Given the description of an element on the screen output the (x, y) to click on. 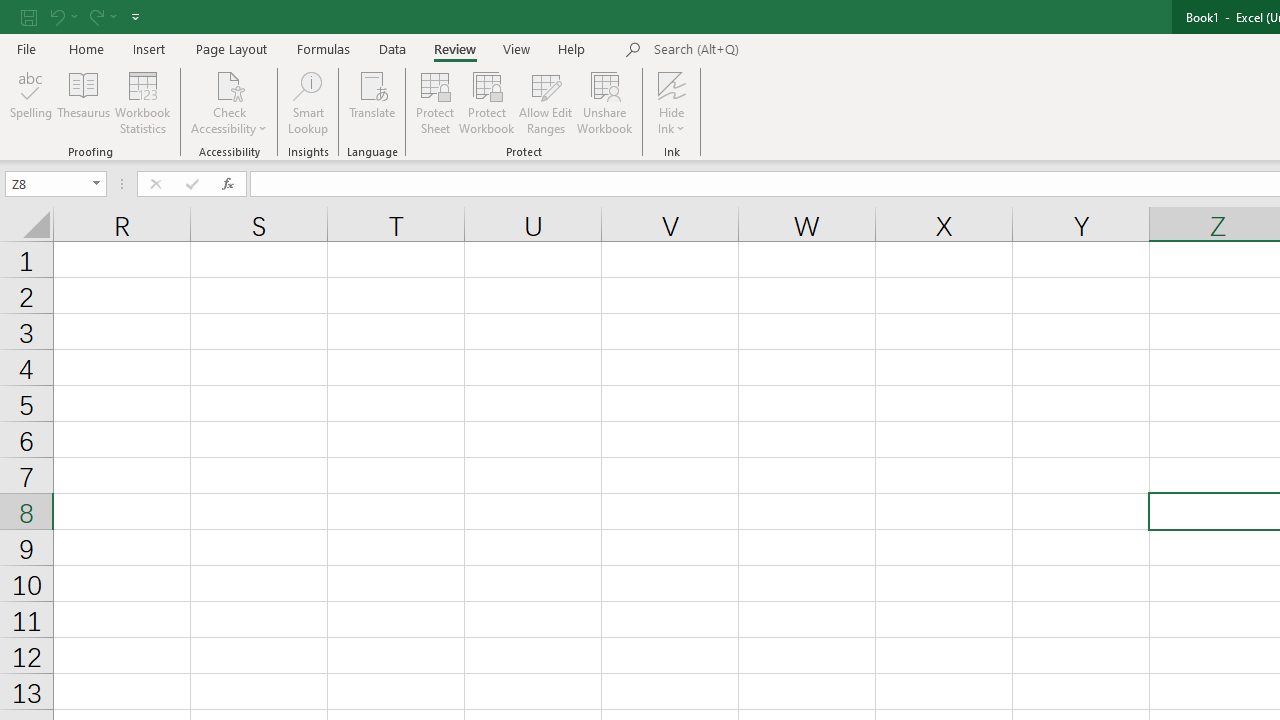
Data (392, 48)
Review (454, 48)
File Tab (26, 48)
Thesaurus... (83, 102)
Home (86, 48)
Microsoft search (792, 49)
Formulas (323, 48)
